Given the description of an element on the screen output the (x, y) to click on. 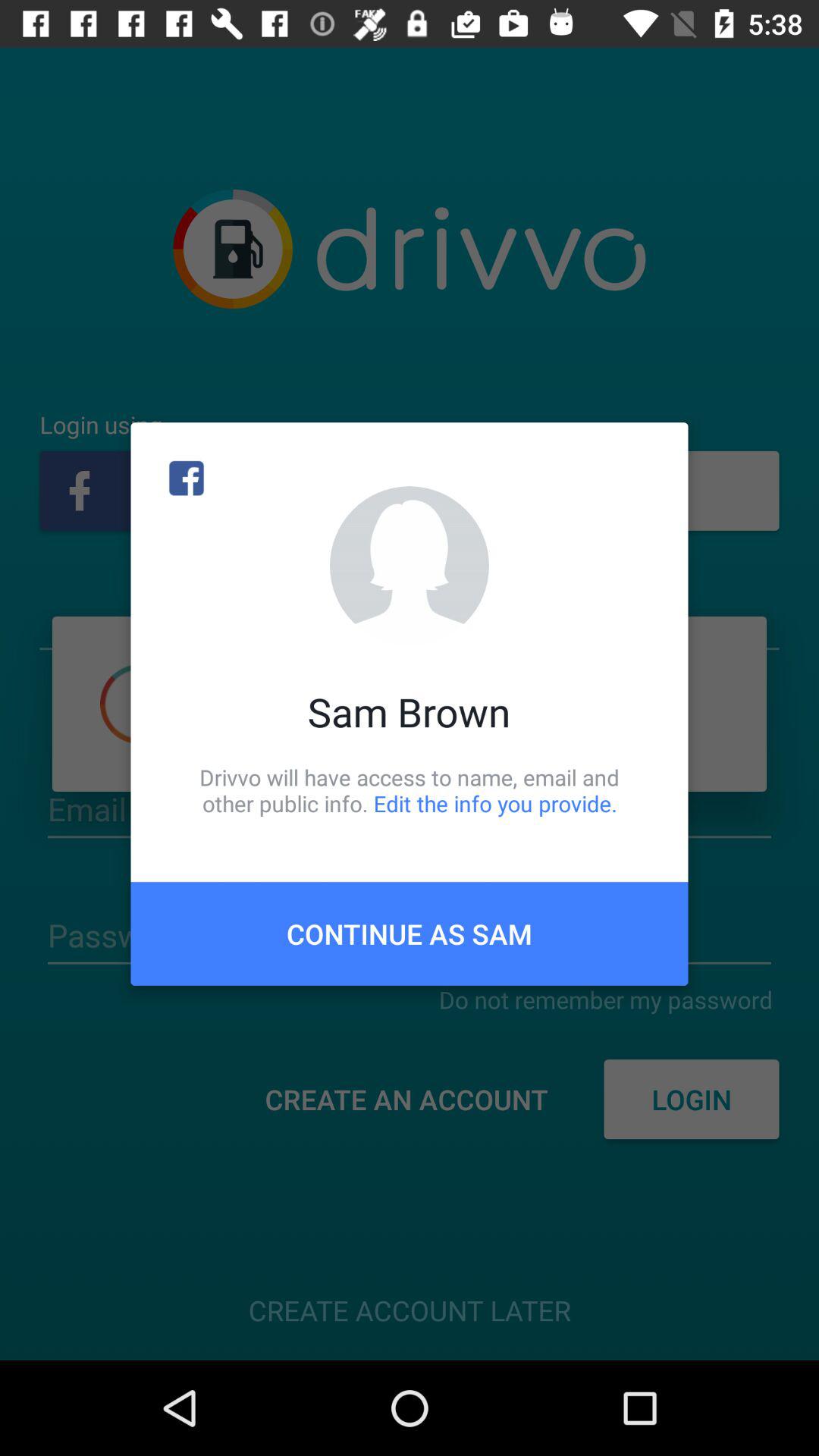
jump until the drivvo will have item (409, 790)
